Given the description of an element on the screen output the (x, y) to click on. 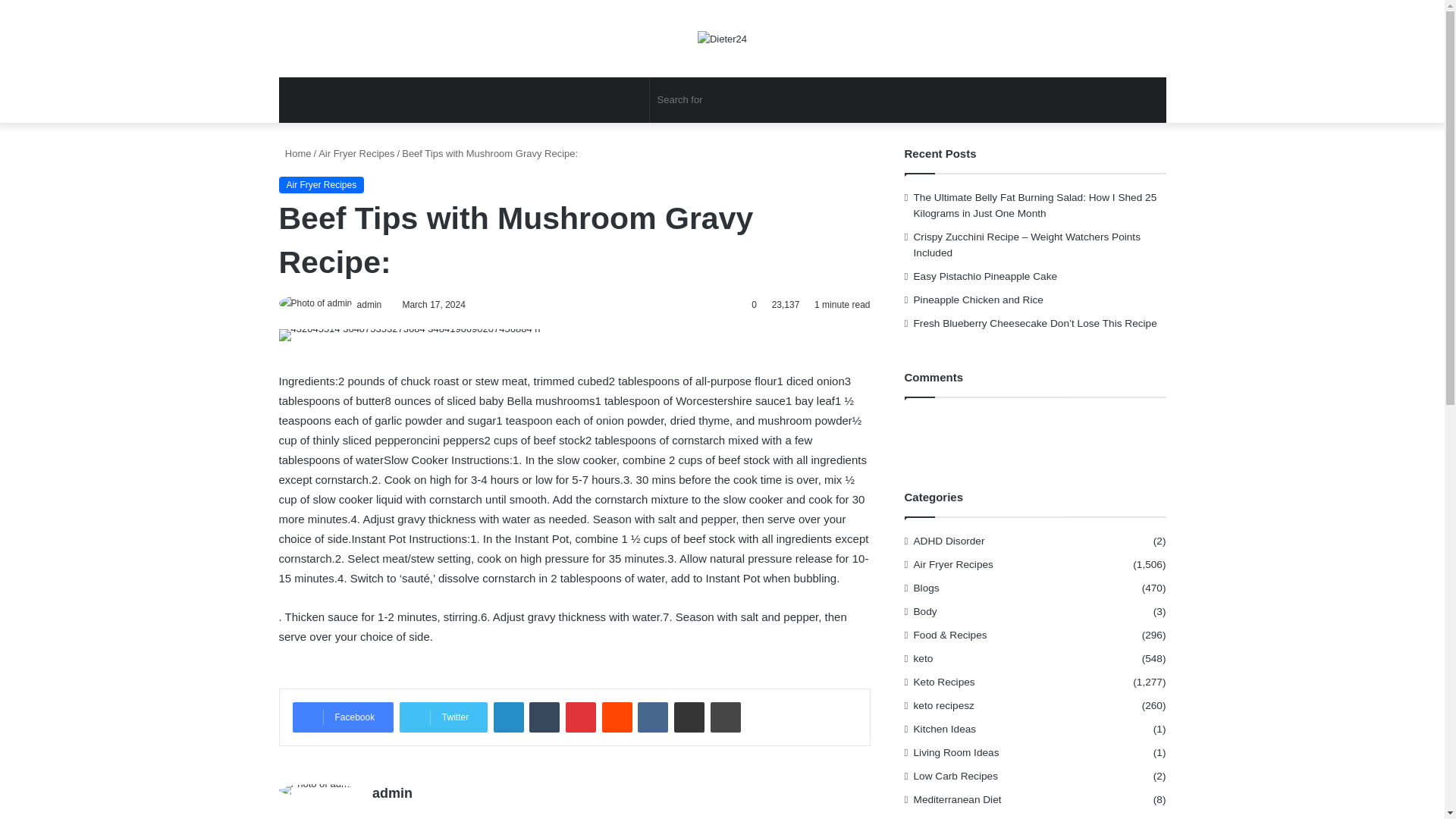
Easy Pistachio Pineapple Cake (986, 276)
Air Fryer Recipes (356, 153)
Twitter (442, 716)
Facebook (343, 716)
VKontakte (652, 716)
Dieter24 (721, 38)
Home (295, 153)
Reddit (616, 716)
Twitter (442, 716)
VKontakte (652, 716)
Reddit (616, 716)
Print (725, 716)
Tumblr (544, 716)
Air Fryer Recipes (953, 564)
